Given the description of an element on the screen output the (x, y) to click on. 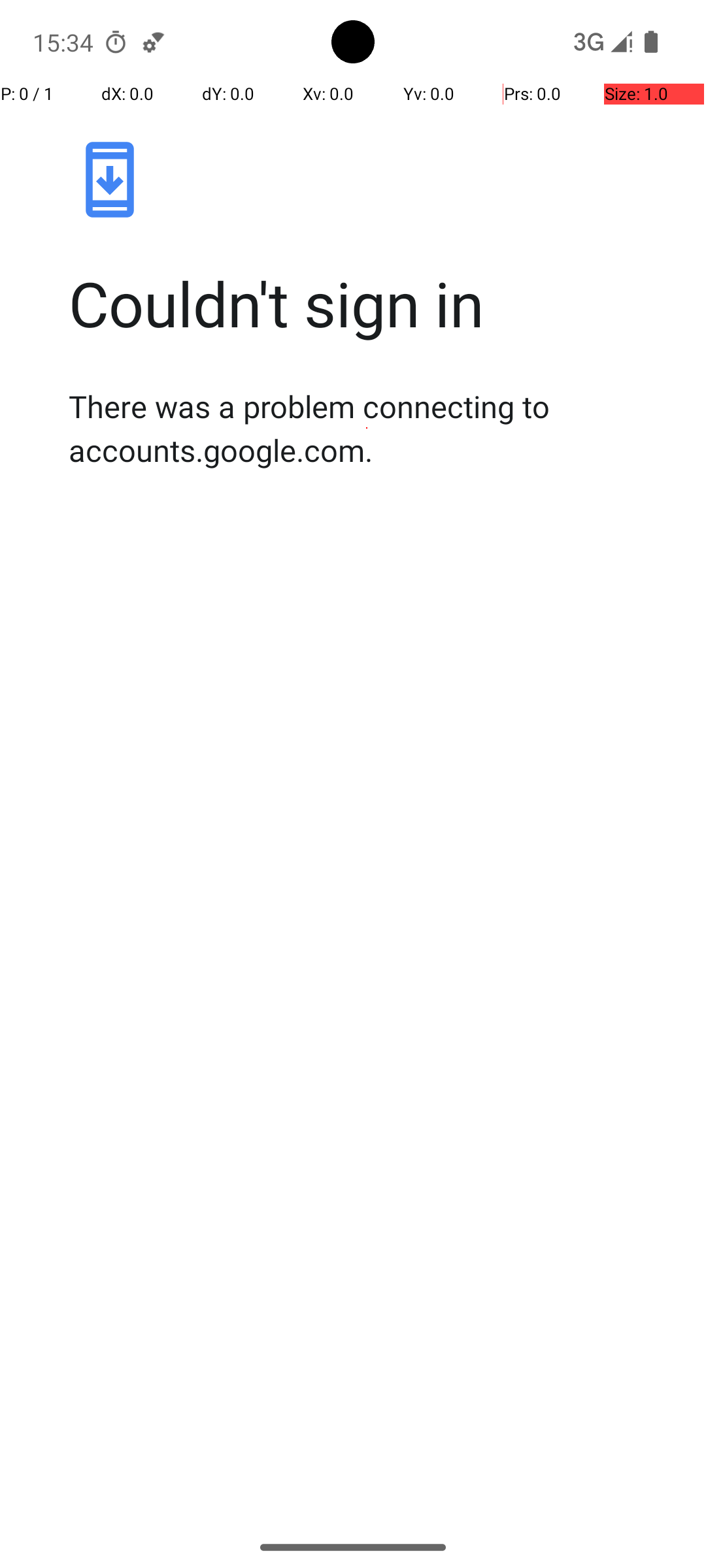
Couldn't sign in Element type: android.widget.TextView (366, 302)
There was a problem connecting to accounts.google.com. Element type: android.widget.TextView (366, 427)
Android System notification: Wi‑Fi will turn on automatically Element type: android.widget.ImageView (153, 41)
